Given the description of an element on the screen output the (x, y) to click on. 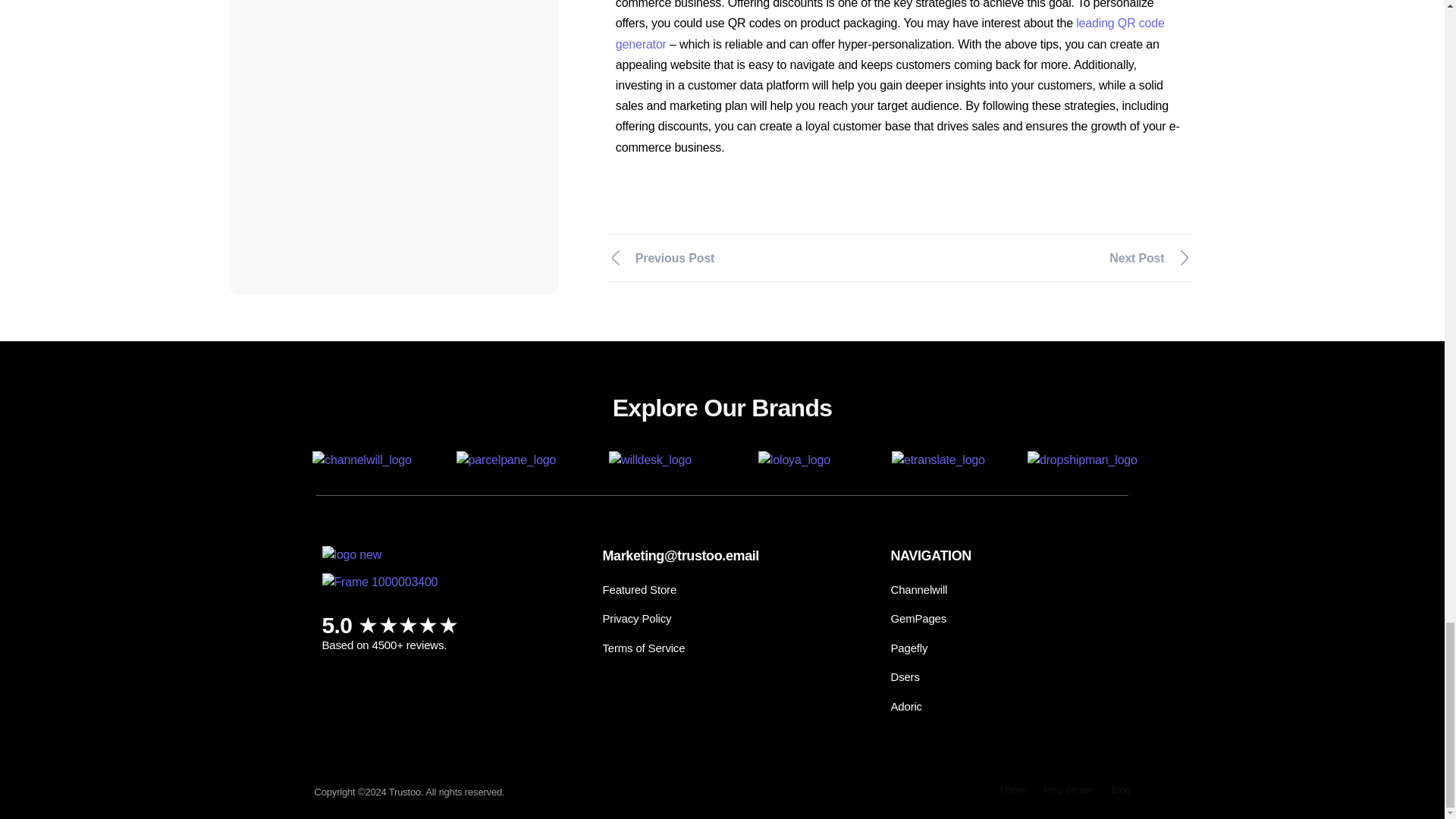
leading QR code generator (889, 32)
logo new (351, 558)
Frame 1000003400 (379, 582)
Previous Post (748, 258)
Next Post (1052, 258)
